Given the description of an element on the screen output the (x, y) to click on. 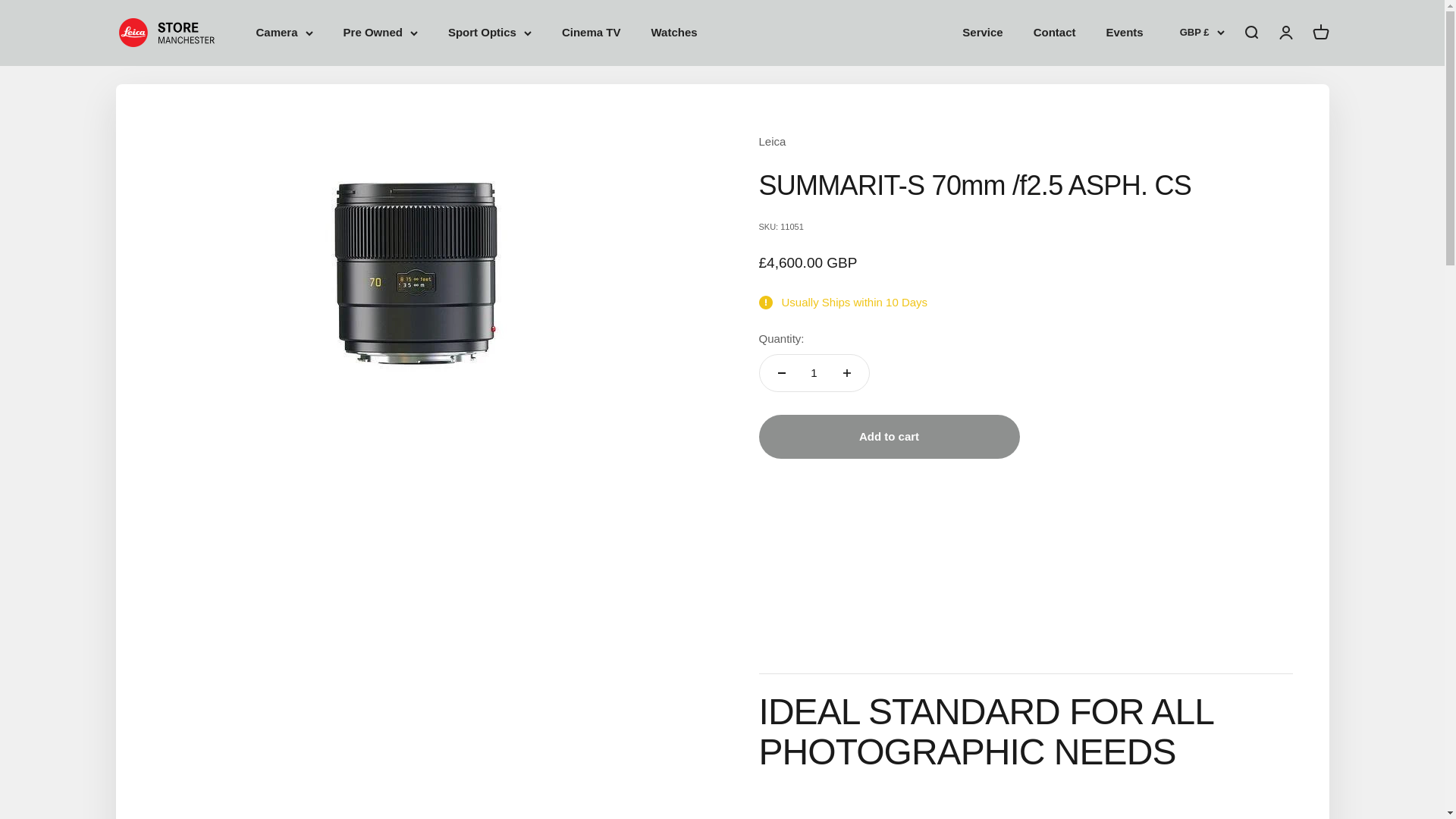
Watches (673, 31)
Cinema TV (591, 31)
Sport Optics (489, 32)
Events (1124, 31)
Service (982, 31)
Pre Owned (380, 32)
Camera (284, 32)
Leica Store Manchester (170, 32)
Contact (1054, 31)
